Given the description of an element on the screen output the (x, y) to click on. 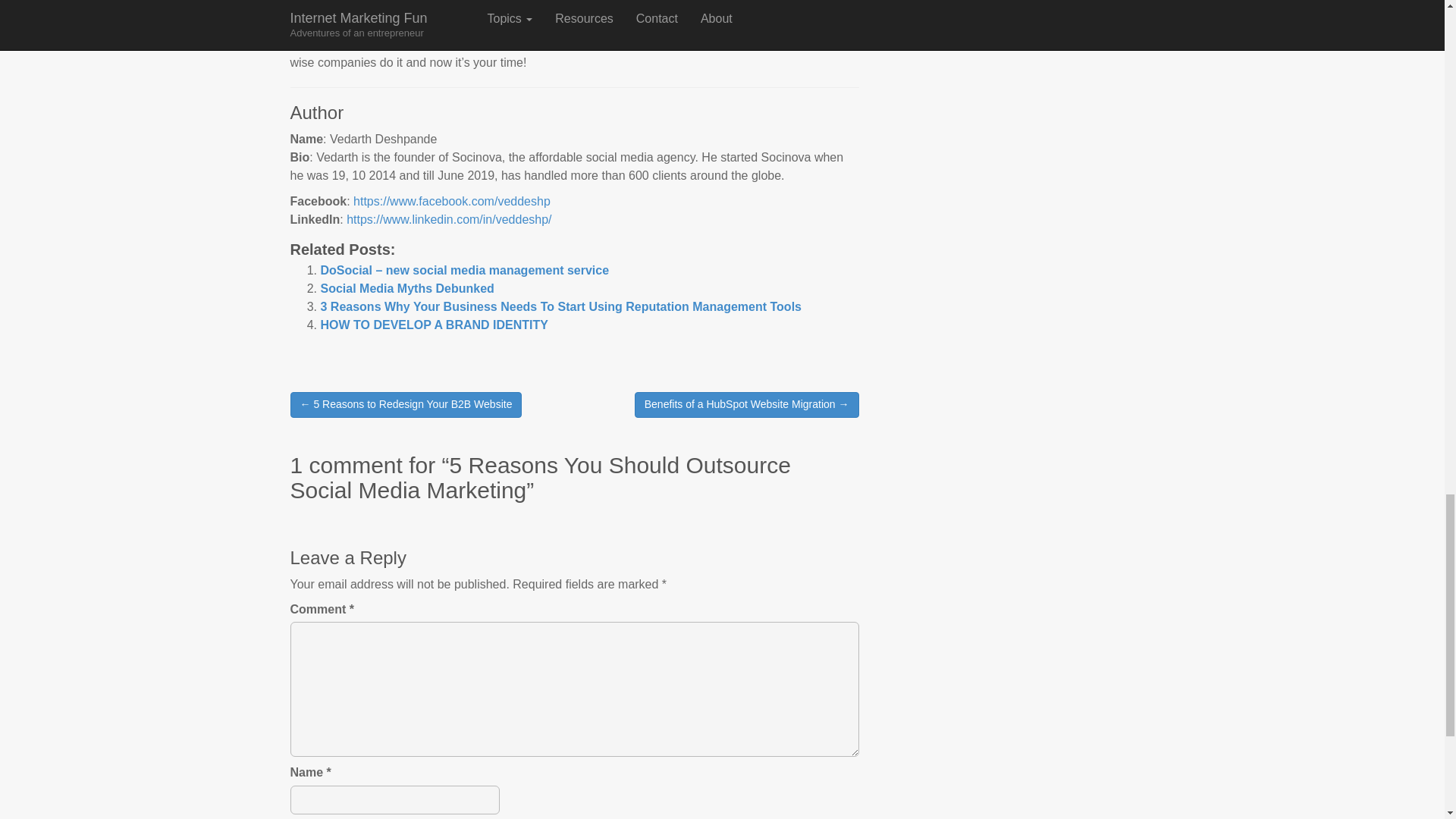
Social Media Myths Debunked (406, 287)
HOW TO DEVELOP A BRAND IDENTITY (433, 324)
HOW TO DEVELOP A BRAND IDENTITY (433, 324)
Social Media Myths Debunked (406, 287)
